Given the description of an element on the screen output the (x, y) to click on. 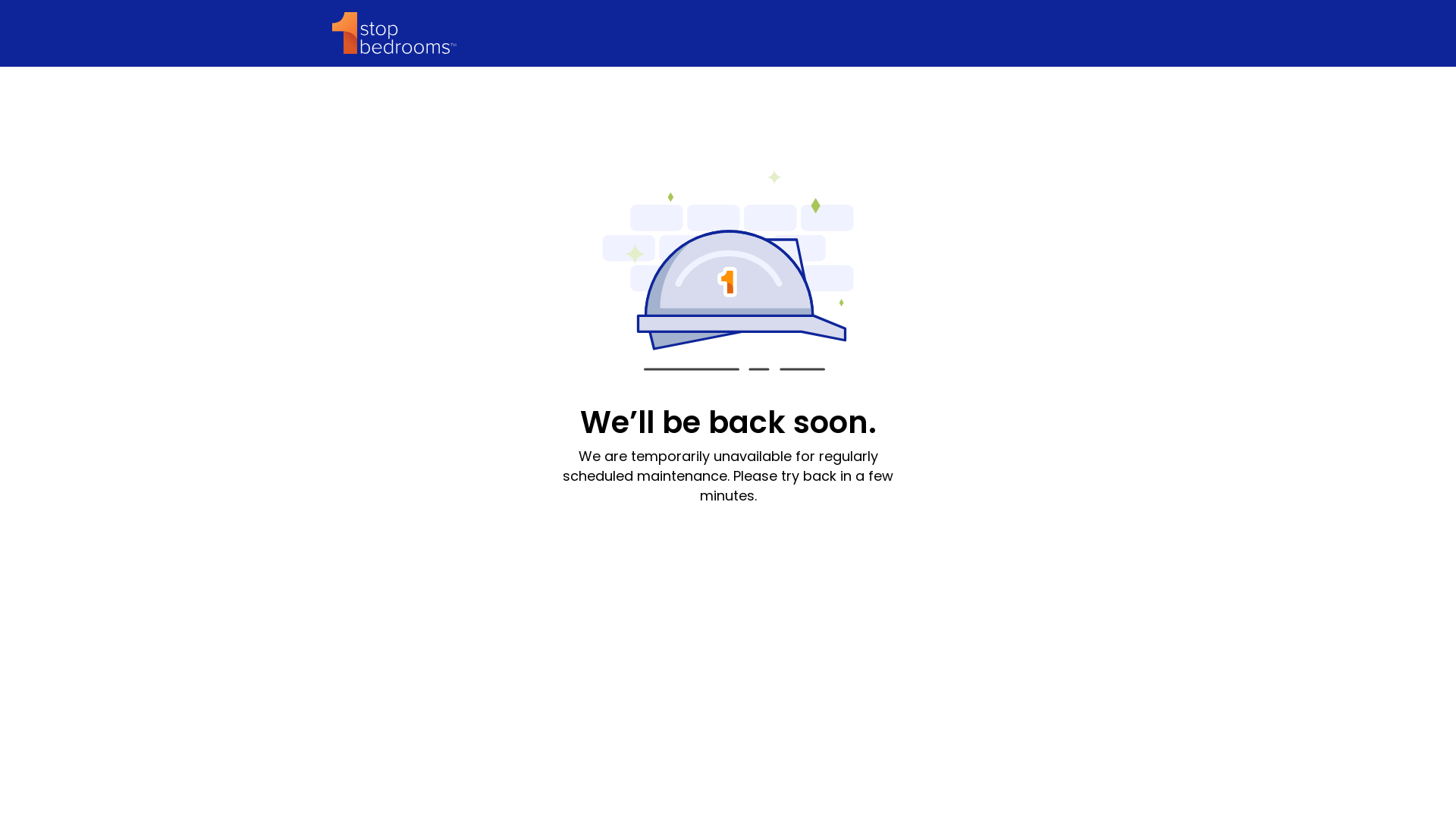
1StopBedrooms Element type: hover (393, 33)
